Given the description of an element on the screen output the (x, y) to click on. 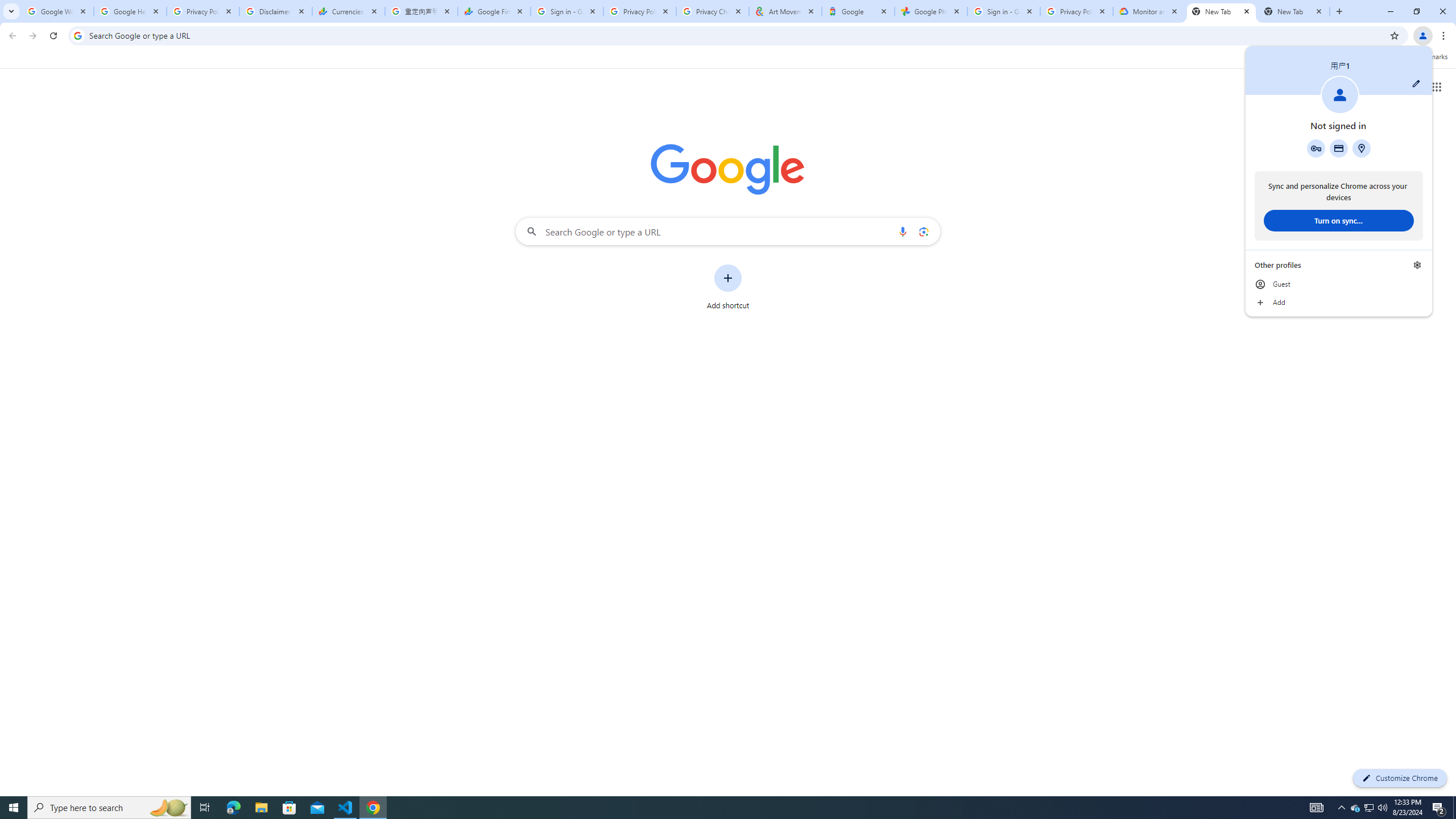
Privacy Checkup (712, 11)
Payment methods (1338, 148)
Visual Studio Code - 1 running window (1355, 807)
Show desktop (345, 807)
Google Password Manager (1454, 807)
